Given the description of an element on the screen output the (x, y) to click on. 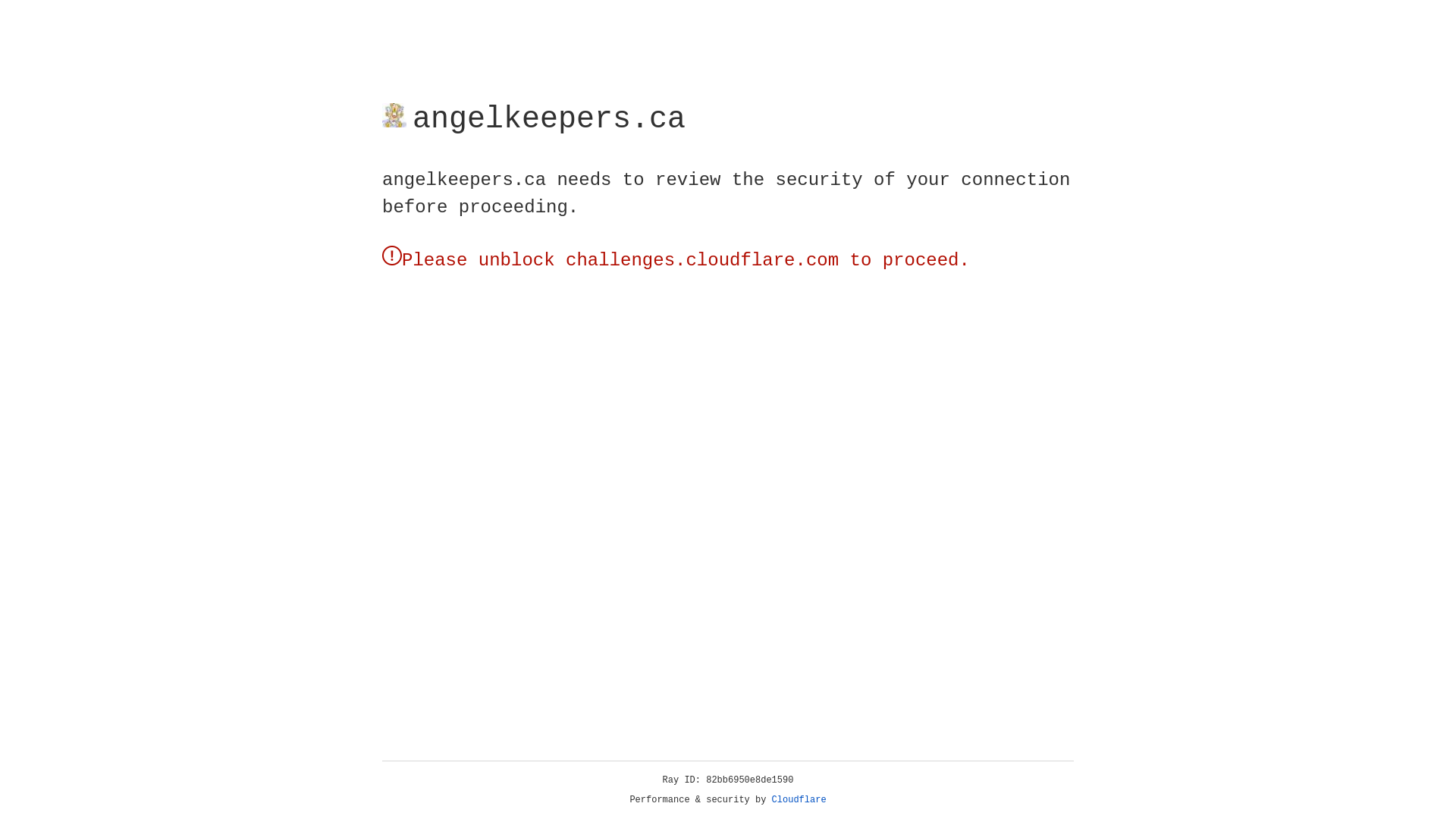
Cloudflare Element type: text (798, 799)
